Given the description of an element on the screen output the (x, y) to click on. 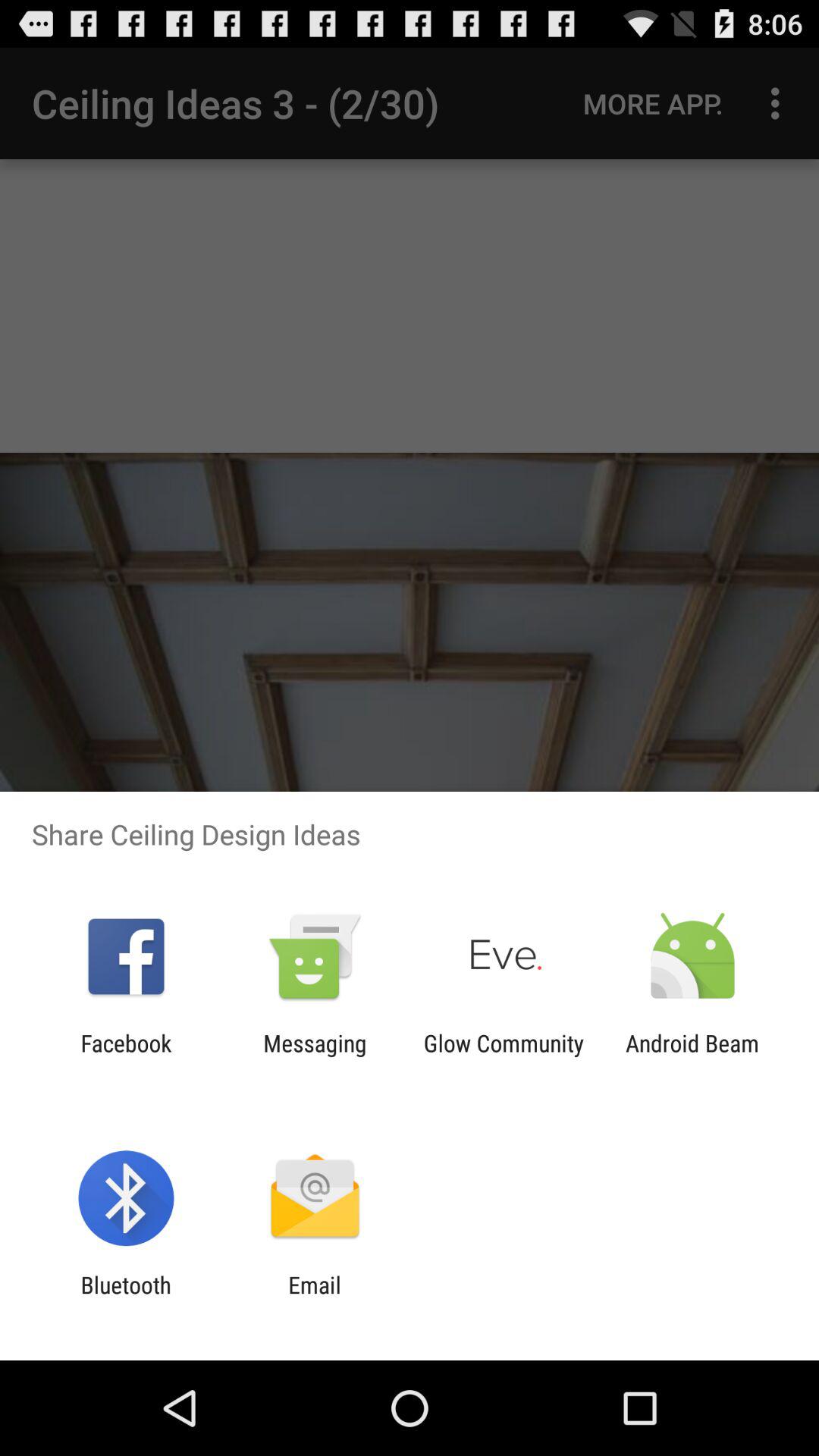
tap app next to the messaging (503, 1056)
